Given the description of an element on the screen output the (x, y) to click on. 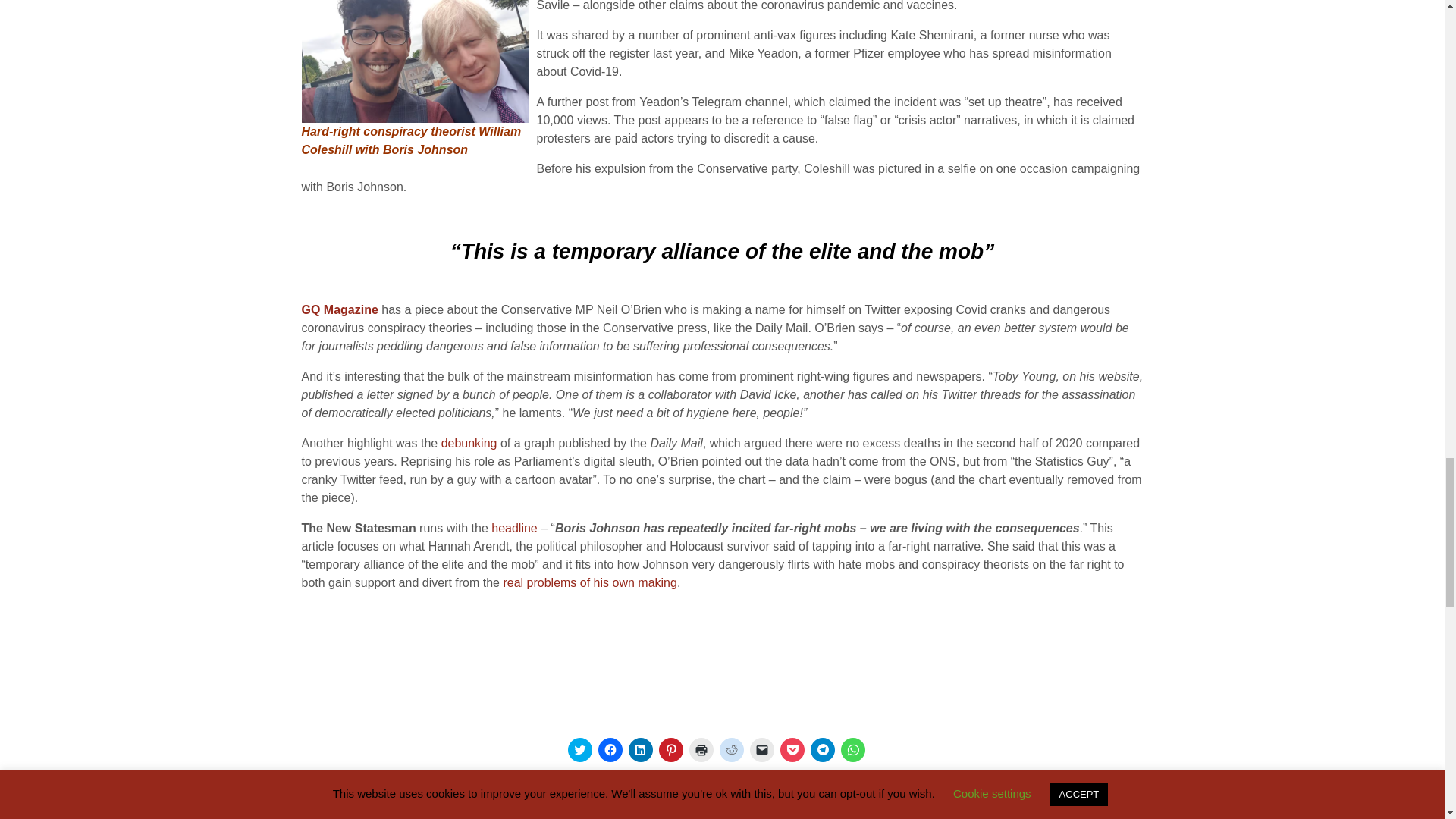
Click to share on Telegram (821, 749)
Click to print (700, 749)
Click to share on Pinterest (670, 749)
Click to share on Pocket (790, 749)
Click to share on Facebook (608, 749)
GQ Magazine (339, 309)
headline (514, 527)
Click to share on WhatsApp (852, 749)
Click to share on Reddit (730, 749)
real problems of his own making (589, 582)
Click to email a link to a friend (761, 749)
debunking (469, 442)
Click to share on LinkedIn (639, 749)
Click to share on Twitter (579, 749)
